Given the description of an element on the screen output the (x, y) to click on. 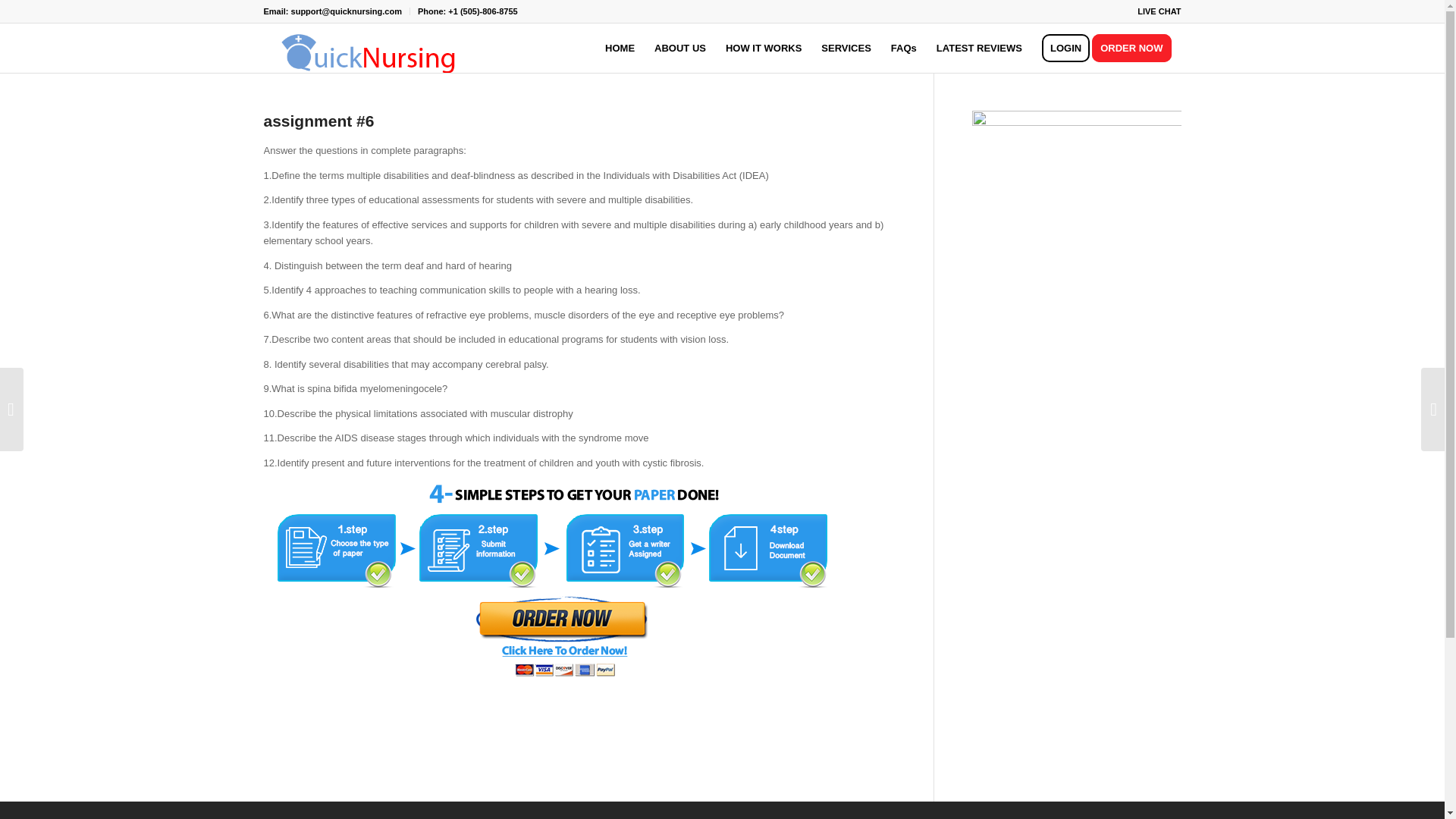
ORDER NOW (1136, 47)
LIVE CHAT (1158, 10)
LOGIN (1065, 47)
FAQs (903, 47)
HOW IT WORKS (763, 47)
HOME (620, 47)
LATEST REVIEWS (979, 47)
ABOUT US (680, 47)
SERVICES (845, 47)
